Given the description of an element on the screen output the (x, y) to click on. 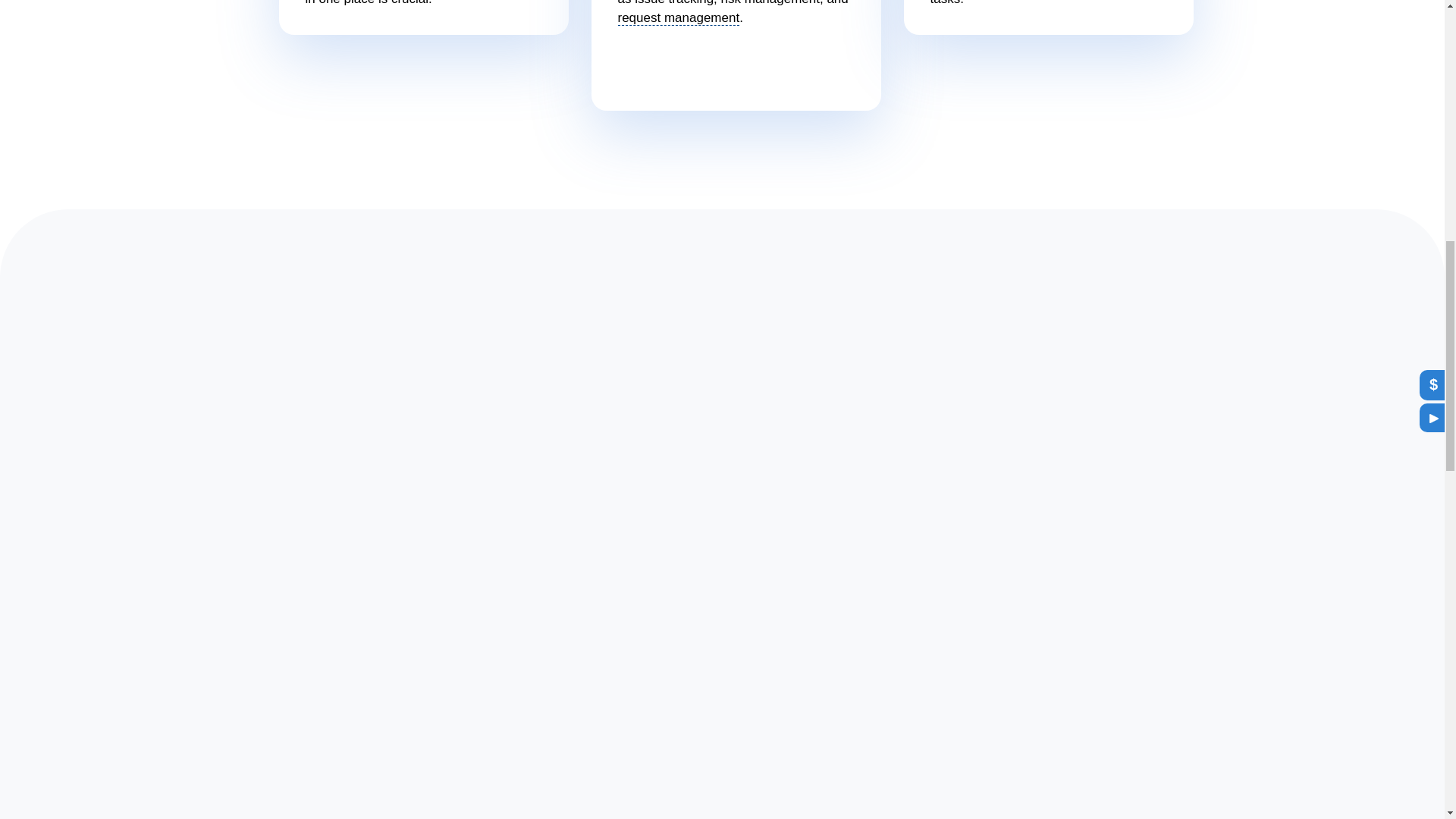
Service request life cycle management (678, 17)
